Given the description of an element on the screen output the (x, y) to click on. 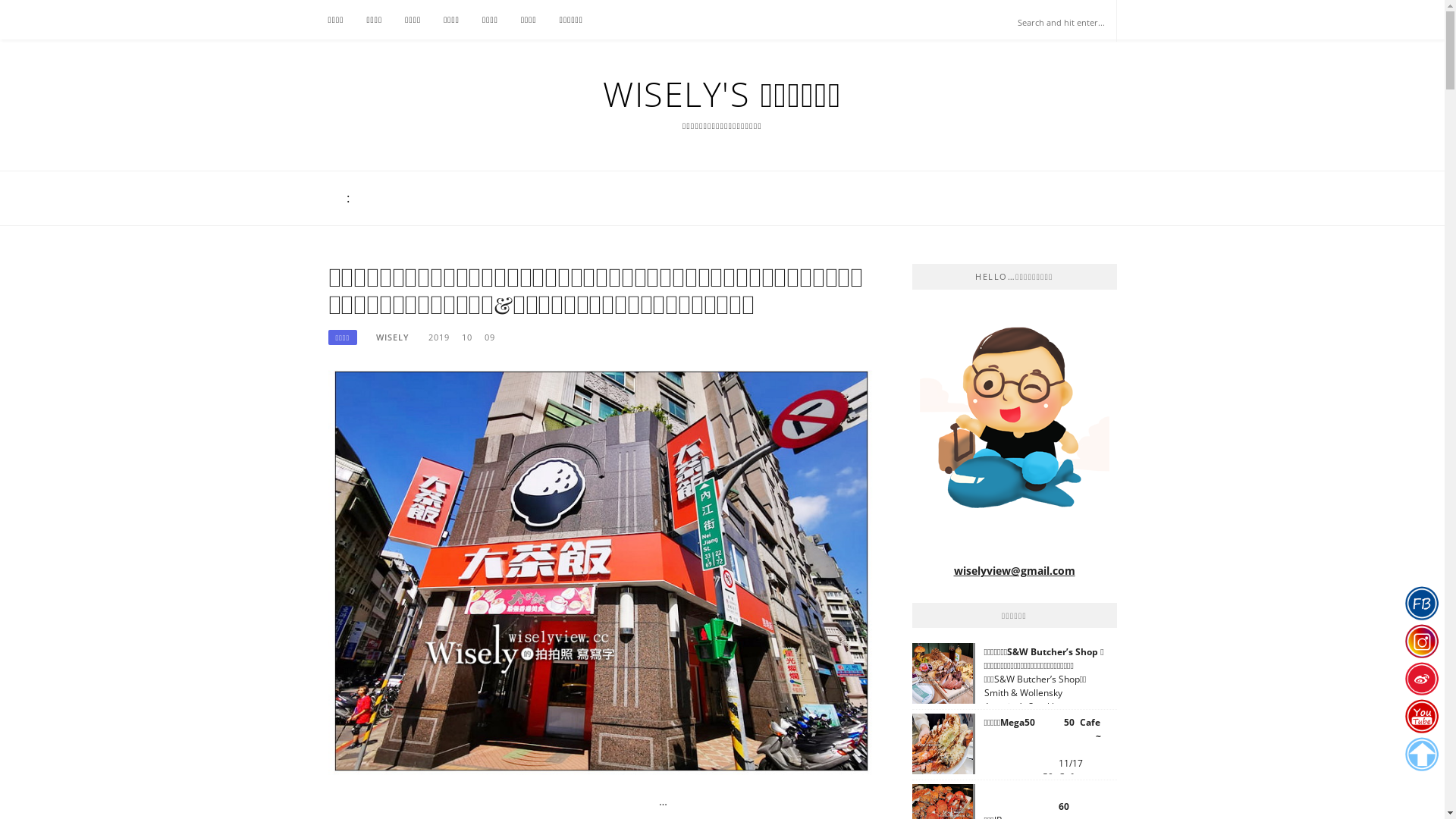
Skip to content Element type: text (0, 0)
GOTOP Element type: hover (1421, 754)
WISELY Element type: text (392, 336)
wiselyview@gmail.com Element type: text (1014, 570)
